Given the description of an element on the screen output the (x, y) to click on. 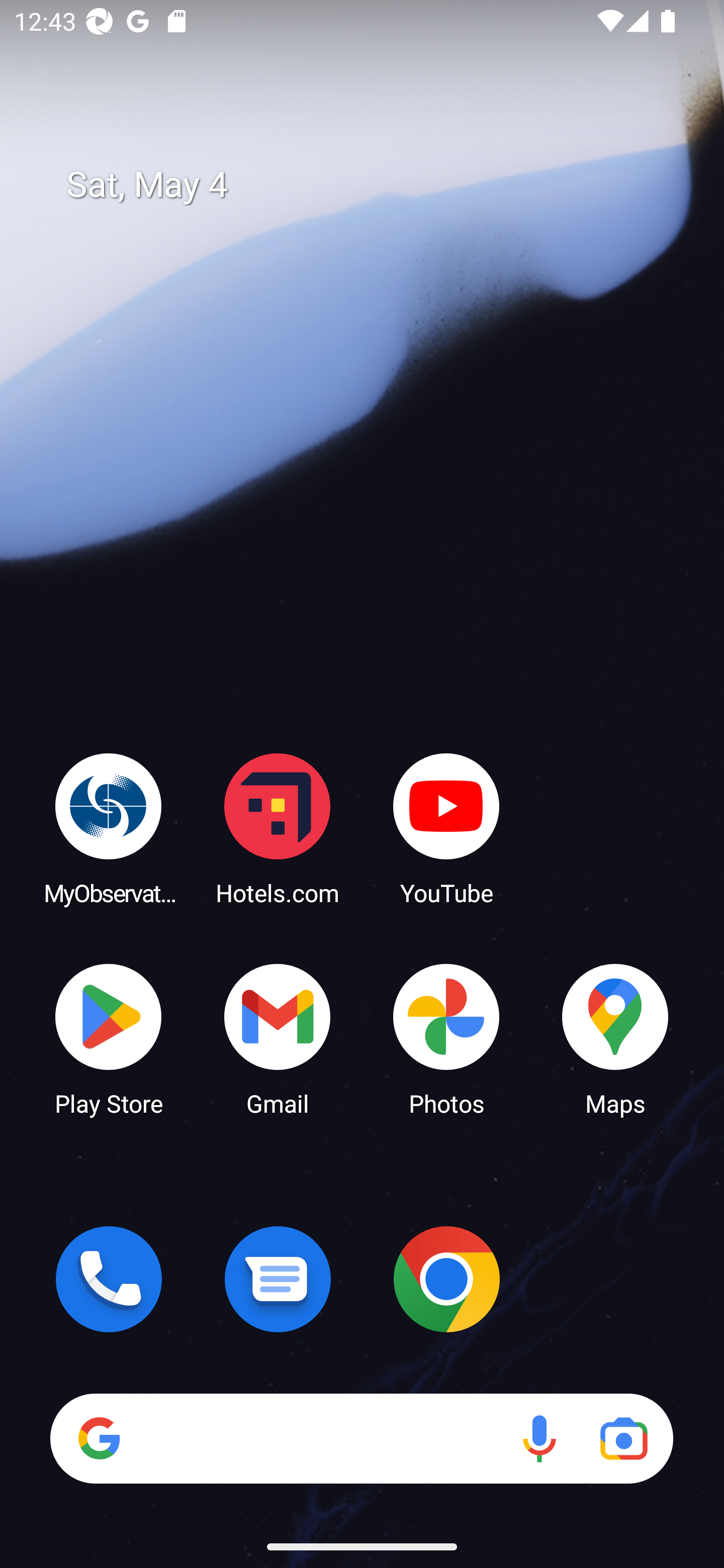
Sat, May 4 (375, 184)
MyObservatory (108, 828)
Hotels.com (277, 828)
YouTube (445, 828)
Play Store (108, 1038)
Gmail (277, 1038)
Photos (445, 1038)
Maps (615, 1038)
Phone (108, 1279)
Messages (277, 1279)
Chrome (446, 1279)
Search Voice search Google Lens (361, 1438)
Voice search (539, 1438)
Google Lens (623, 1438)
